Given the description of an element on the screen output the (x, y) to click on. 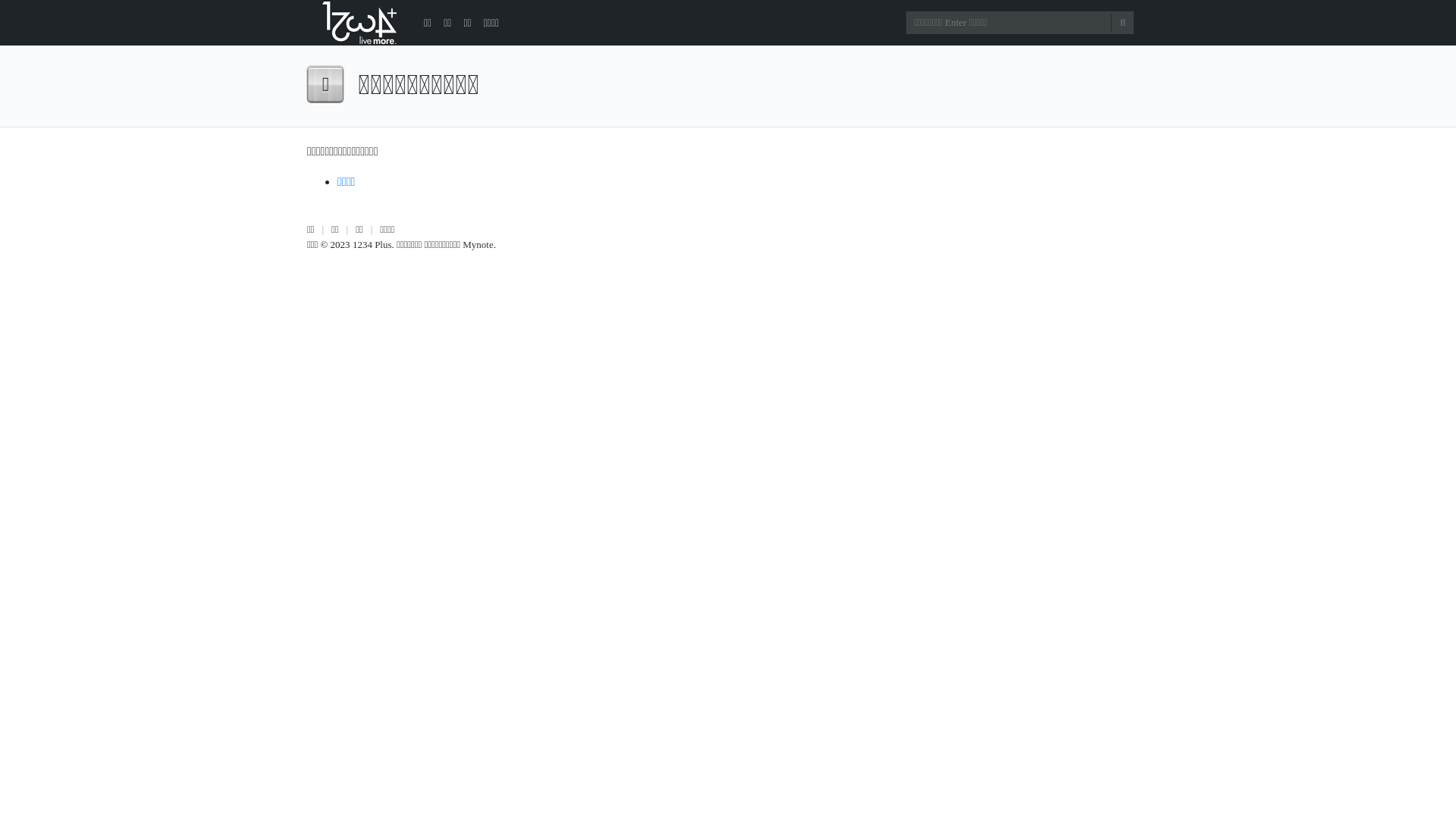
1234 Plus Element type: text (372, 244)
Mynote Element type: text (477, 244)
